Given the description of an element on the screen output the (x, y) to click on. 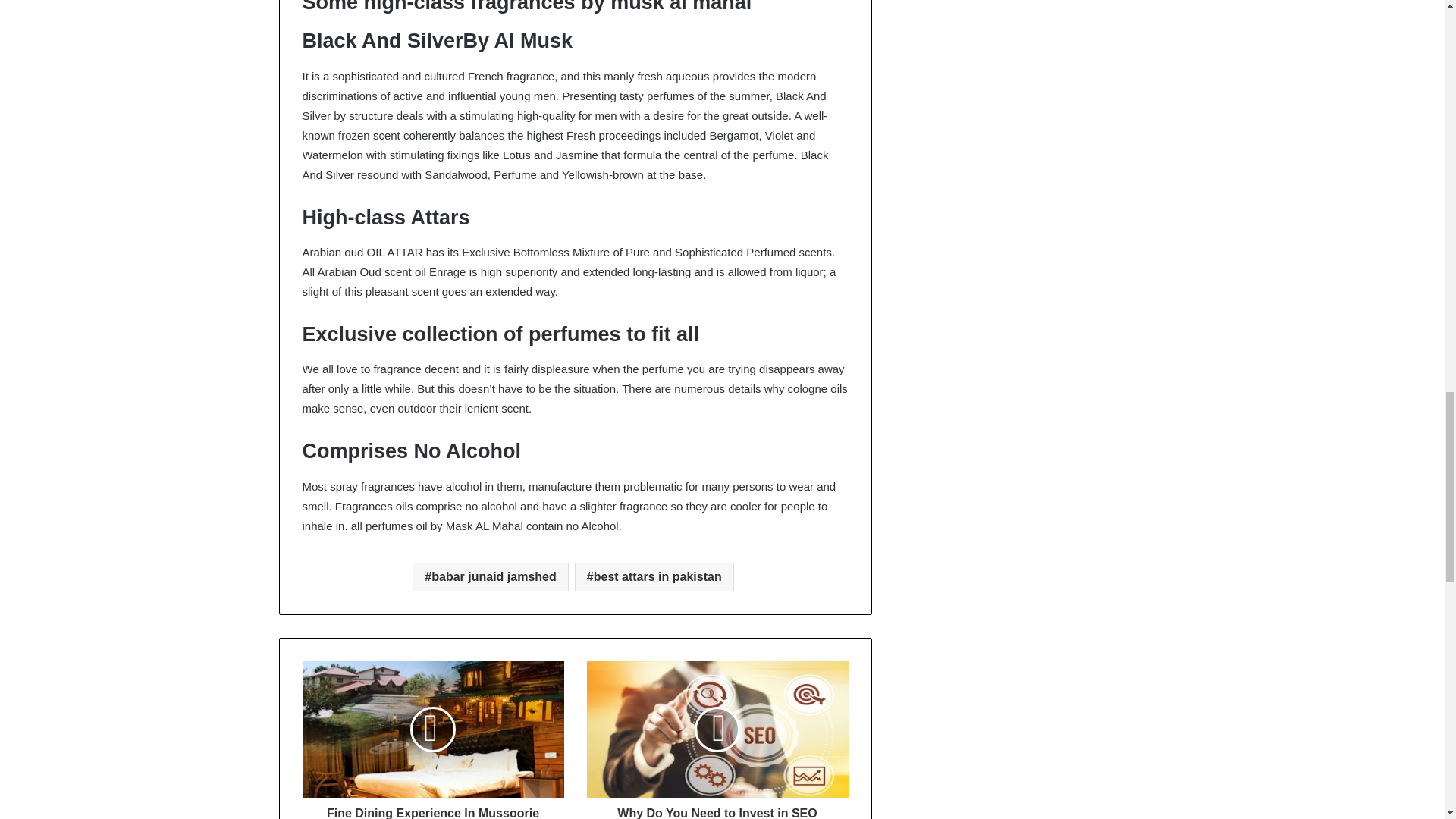
Why Do You Need to Invest in SEO Services in Lahore? (717, 808)
babar junaid jamshed (489, 576)
best attars in pakistan (654, 576)
